Given the description of an element on the screen output the (x, y) to click on. 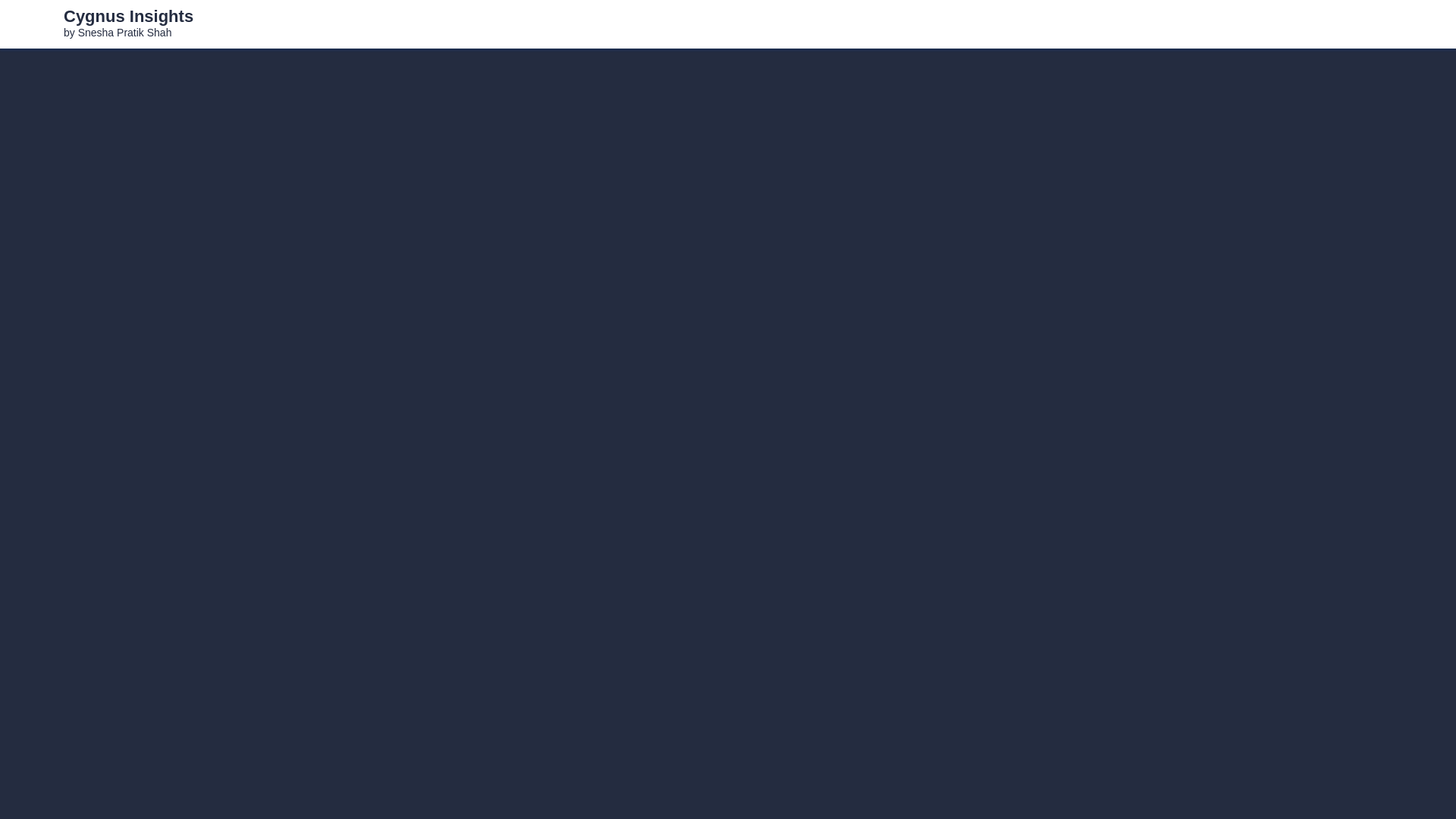
Menu (1424, 24)
Settings (1386, 24)
Pages (1341, 24)
Book Creator (32, 23)
Go to Book Creator website (32, 23)
